Given the description of an element on the screen output the (x, y) to click on. 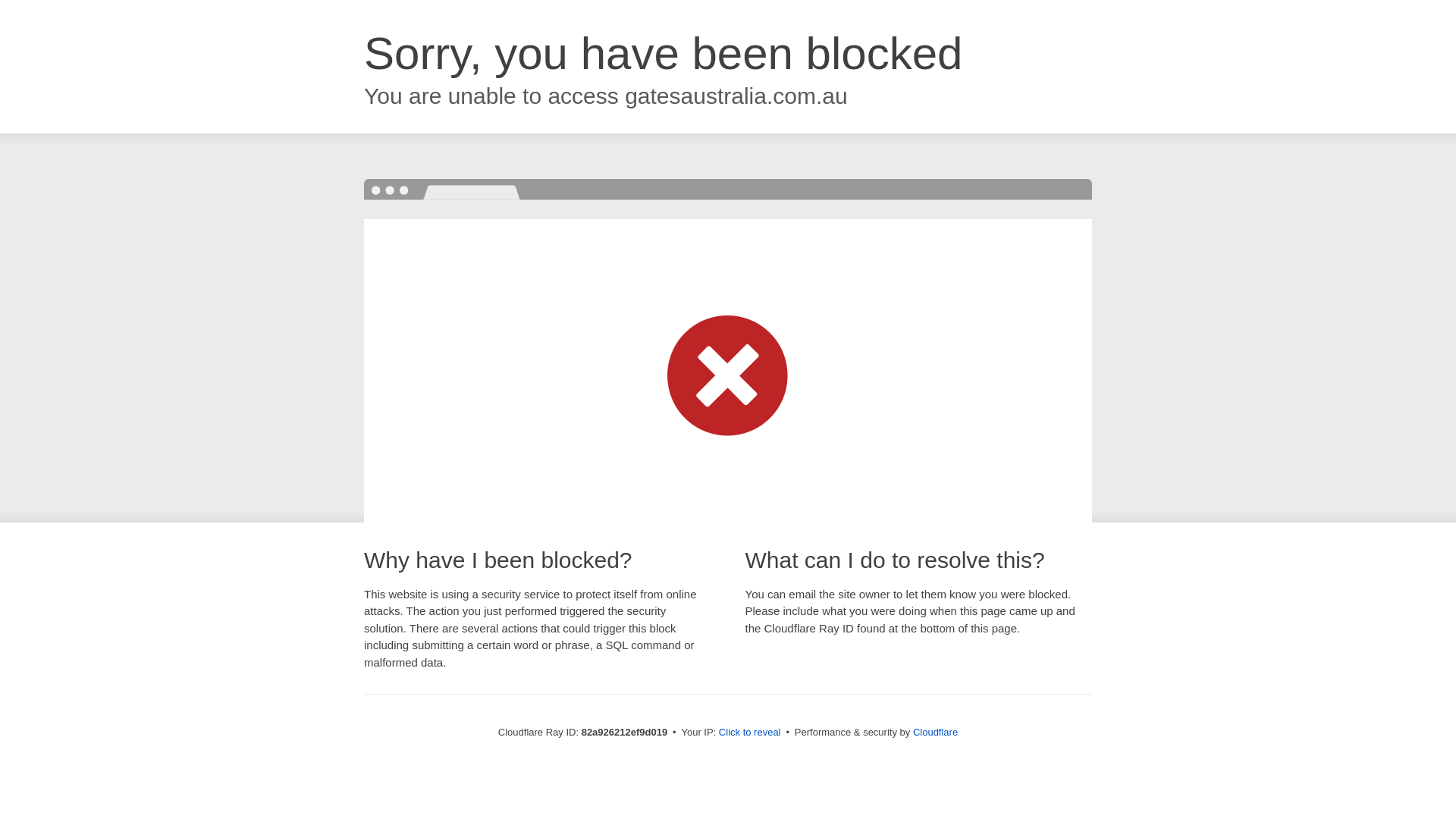
Click to reveal Element type: text (749, 732)
Cloudflare Element type: text (935, 731)
